Given the description of an element on the screen output the (x, y) to click on. 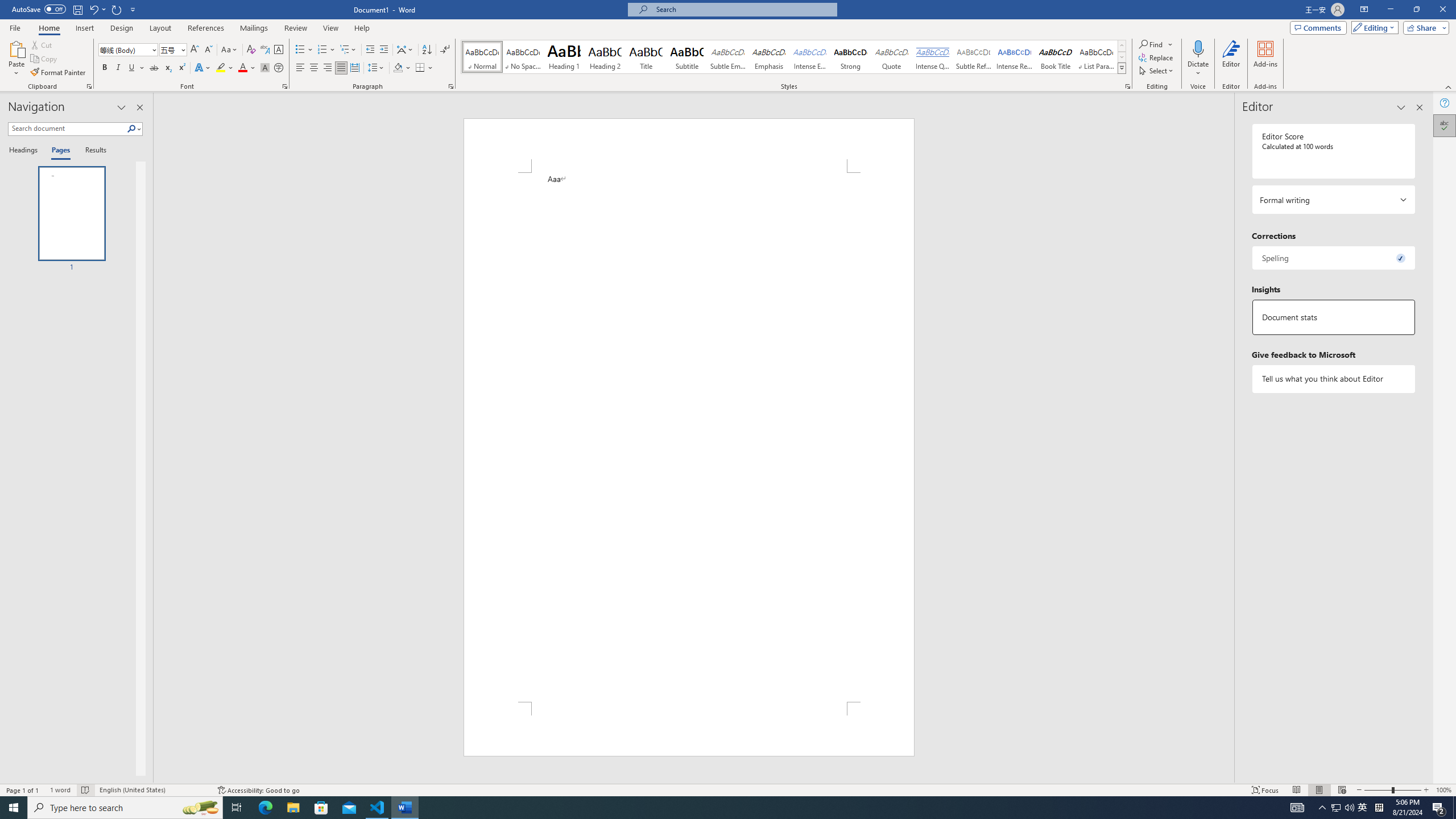
Book Title (1055, 56)
Emphasis (768, 56)
